Given the description of an element on the screen output the (x, y) to click on. 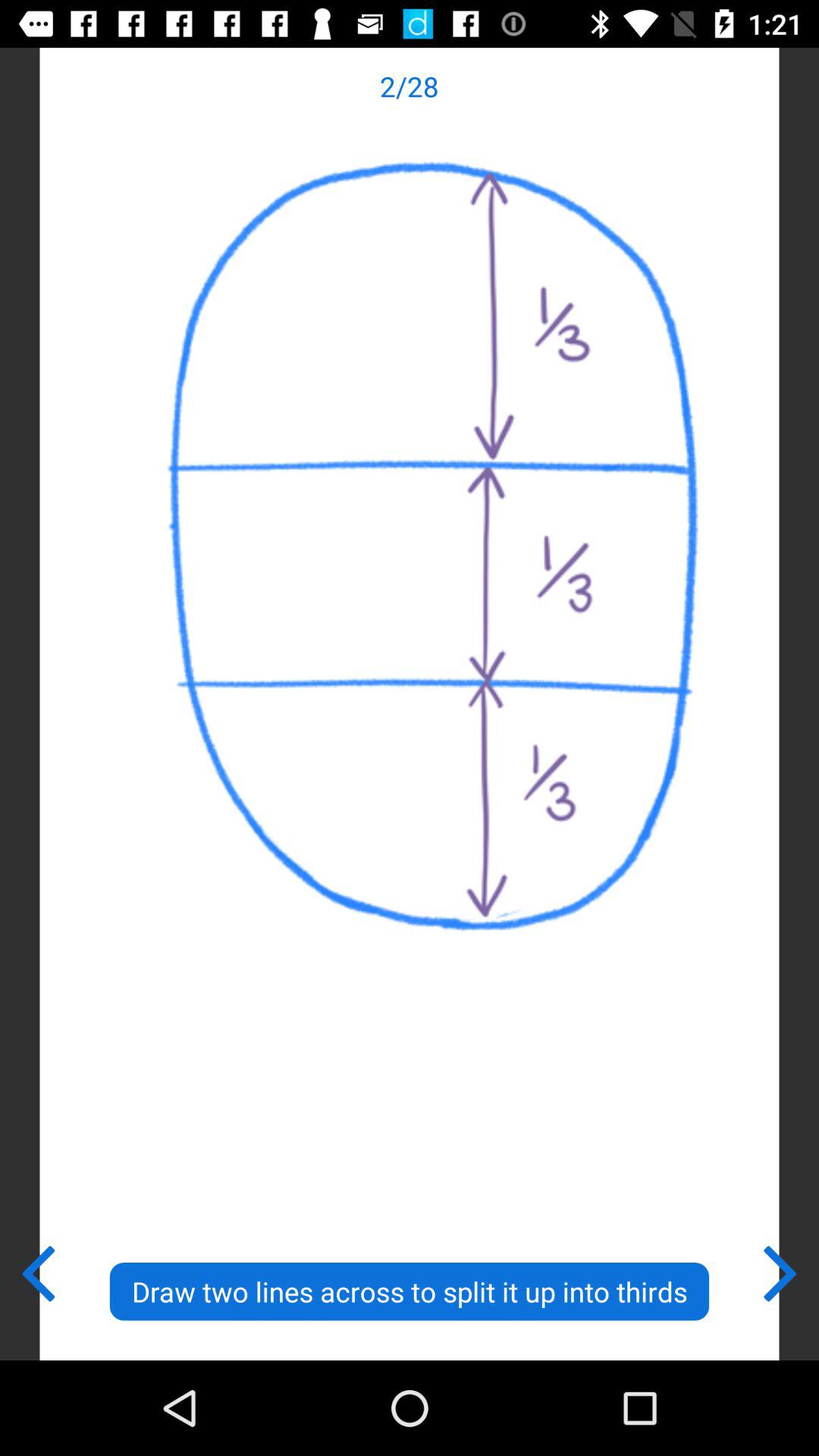
press the icon next to draw two lines (781, 1270)
